Given the description of an element on the screen output the (x, y) to click on. 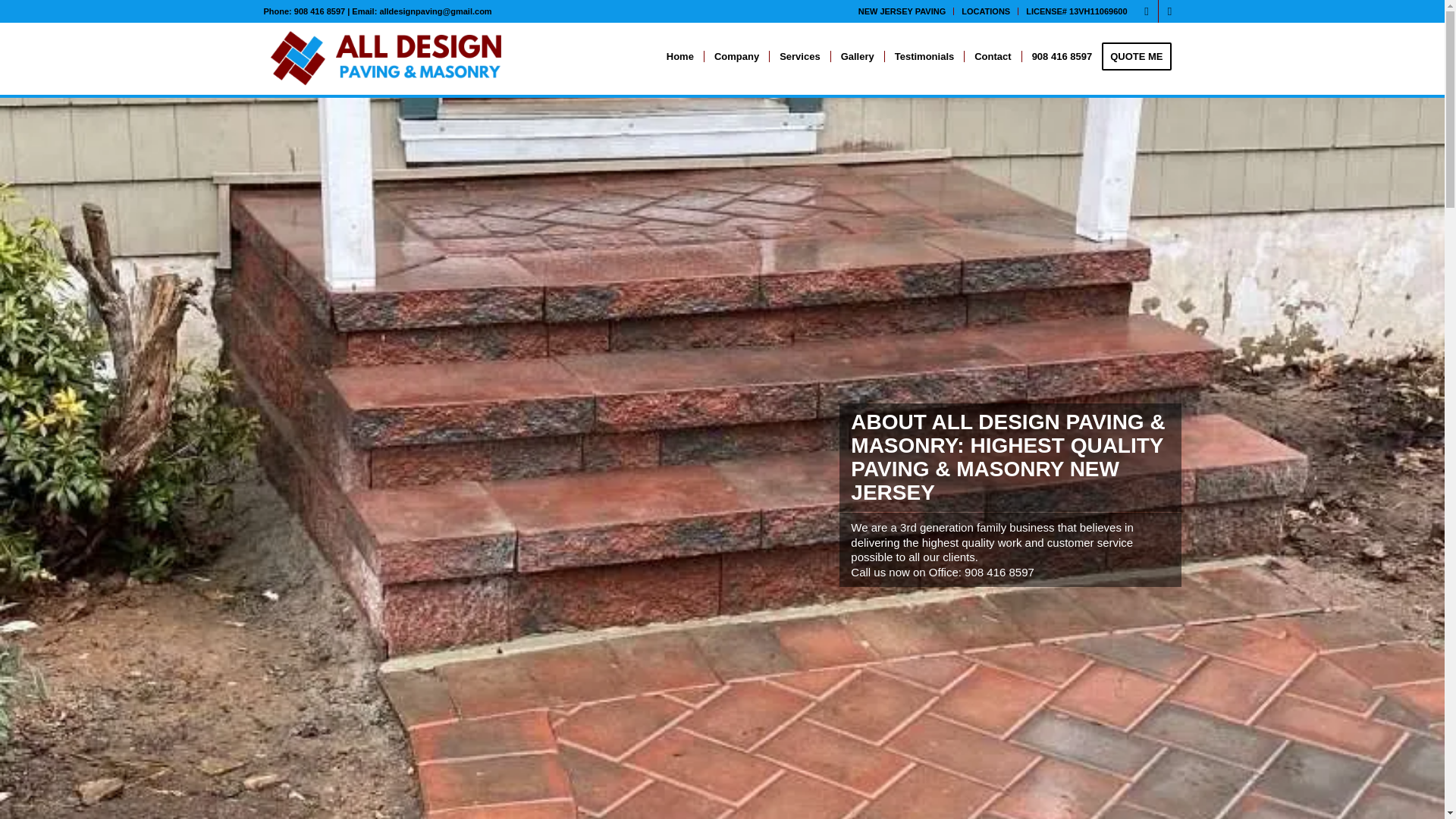
LOCATIONS (985, 11)
Facebook (1146, 11)
Testimonials (923, 56)
Company (735, 56)
QUOTE ME (1141, 56)
All Design Paving New Jersey (389, 56)
Instagram (1169, 11)
NEW JERSEY PAVING (902, 11)
908 416 8597 (1062, 56)
Services (798, 56)
